Given the description of an element on the screen output the (x, y) to click on. 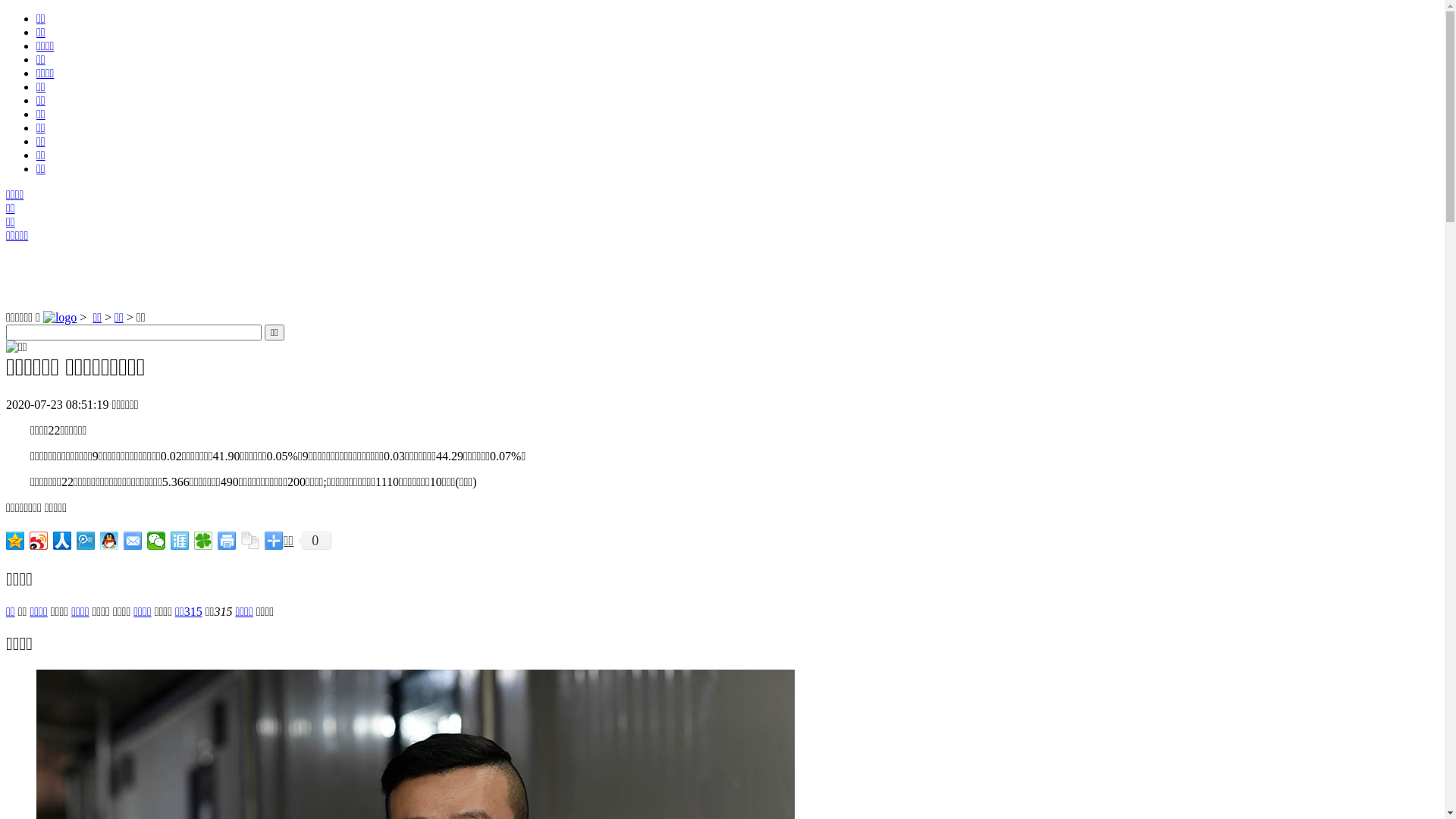
Advertisement Element type: hover (377, 276)
0 Element type: text (315, 540)
